Given the description of an element on the screen output the (x, y) to click on. 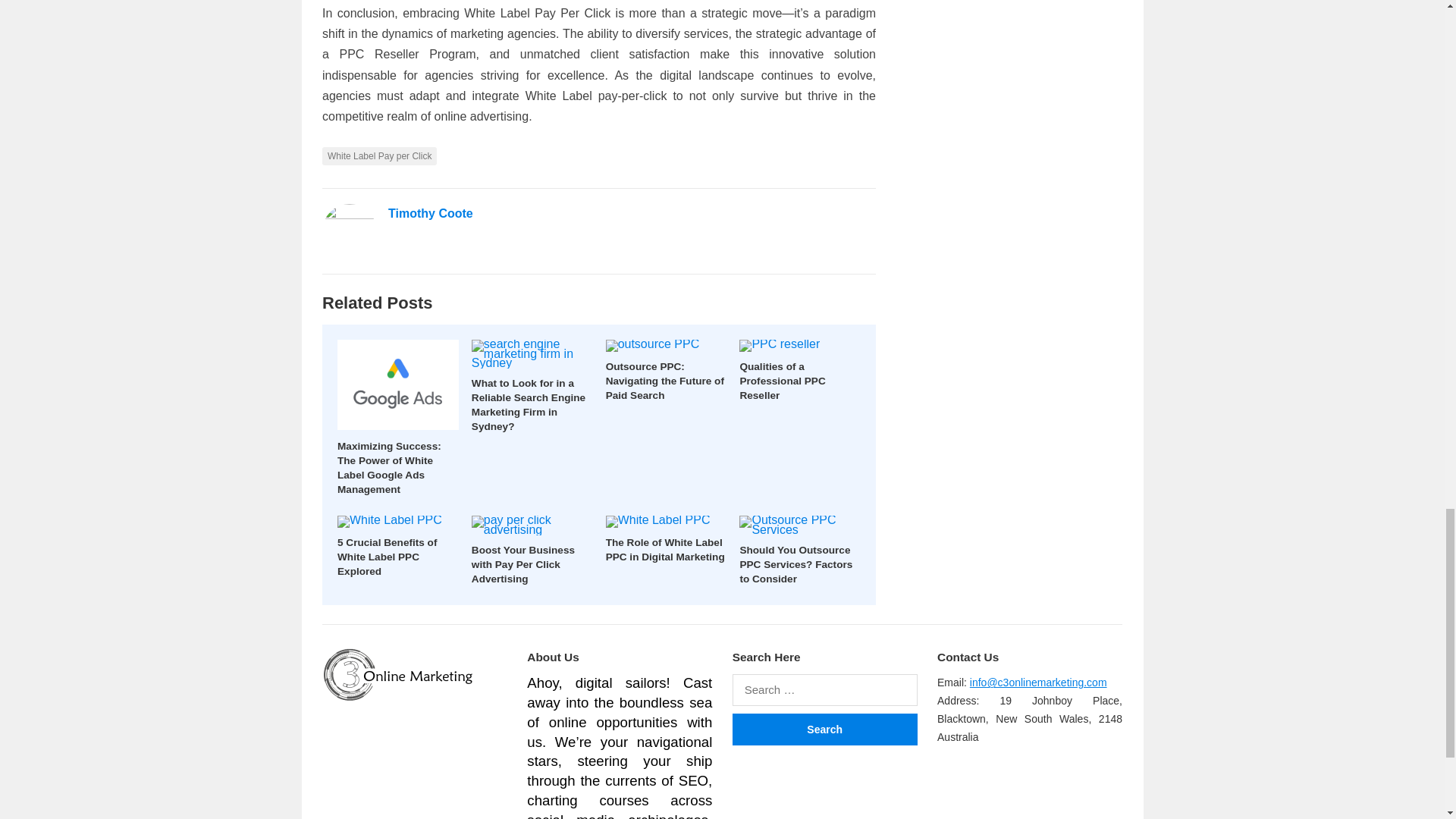
Search (824, 729)
5 Crucial Benefits of White Label PPC Explored (386, 557)
White Label Pay per Click (378, 156)
Search (824, 729)
Qualities of a Professional PPC Reseller (782, 381)
Timothy Coote (430, 213)
Outsource PPC: Navigating the Future of Paid Search (664, 381)
